Given the description of an element on the screen output the (x, y) to click on. 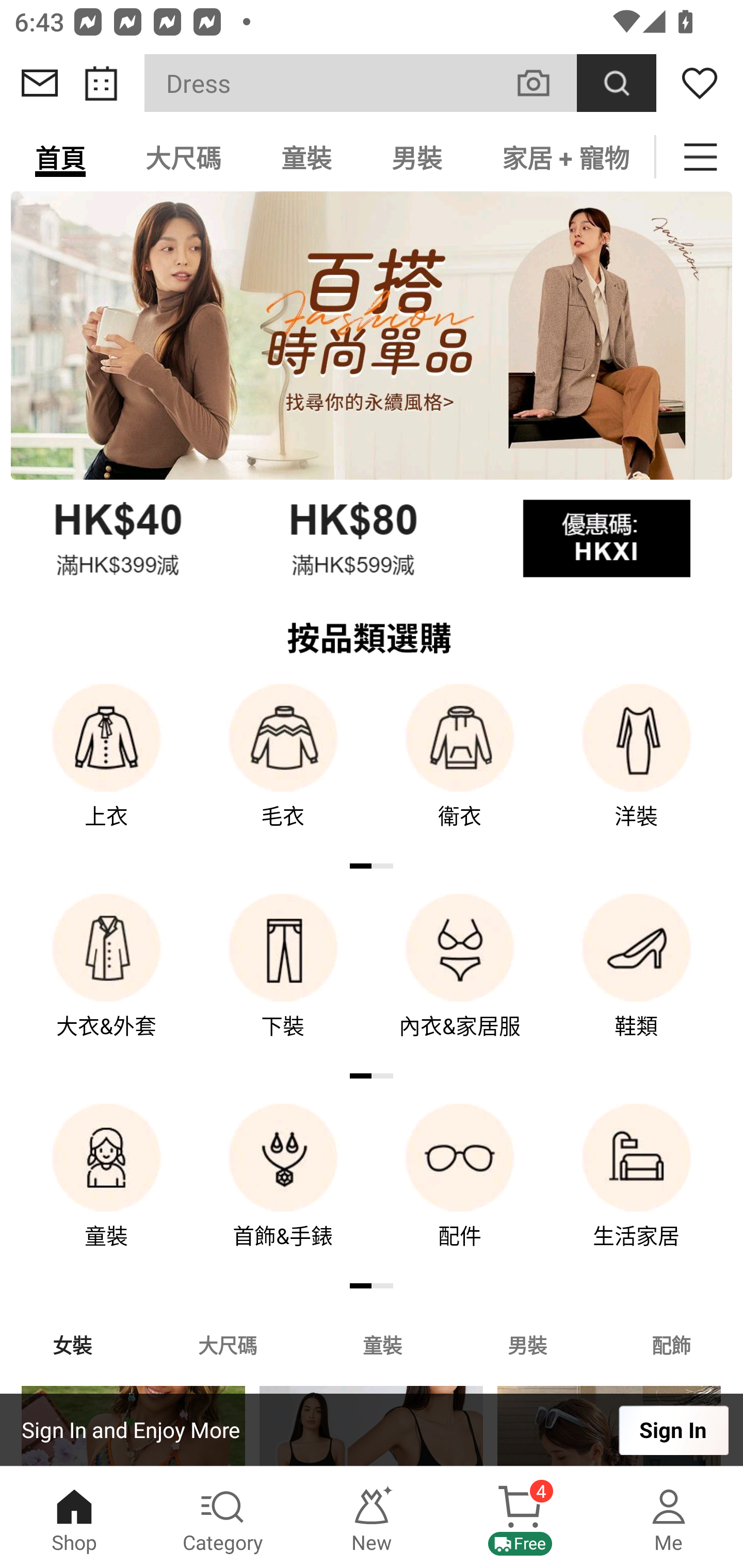
Wishlist (699, 82)
VISUAL SEARCH (543, 82)
首頁 (60, 156)
大尺碼 (183, 156)
童裝 (306, 156)
男裝 (416, 156)
家居 + 寵物 (563, 156)
上衣 (105, 769)
毛衣 (282, 769)
衛衣 (459, 769)
洋裝 (636, 769)
大衣&外套 (105, 979)
下裝 (282, 979)
內衣&家居服 (459, 979)
鞋類 (636, 979)
童裝 (105, 1189)
首飾&手錶 (282, 1189)
配件 (459, 1189)
生活家居 (636, 1189)
女裝 (72, 1344)
大尺碼 (226, 1344)
童裝 (381, 1344)
男裝 (527, 1344)
配飾 (671, 1344)
Sign In and Enjoy More Sign In (371, 1429)
Category (222, 1517)
New (371, 1517)
Cart 4 Free (519, 1517)
Me (668, 1517)
